Given the description of an element on the screen output the (x, y) to click on. 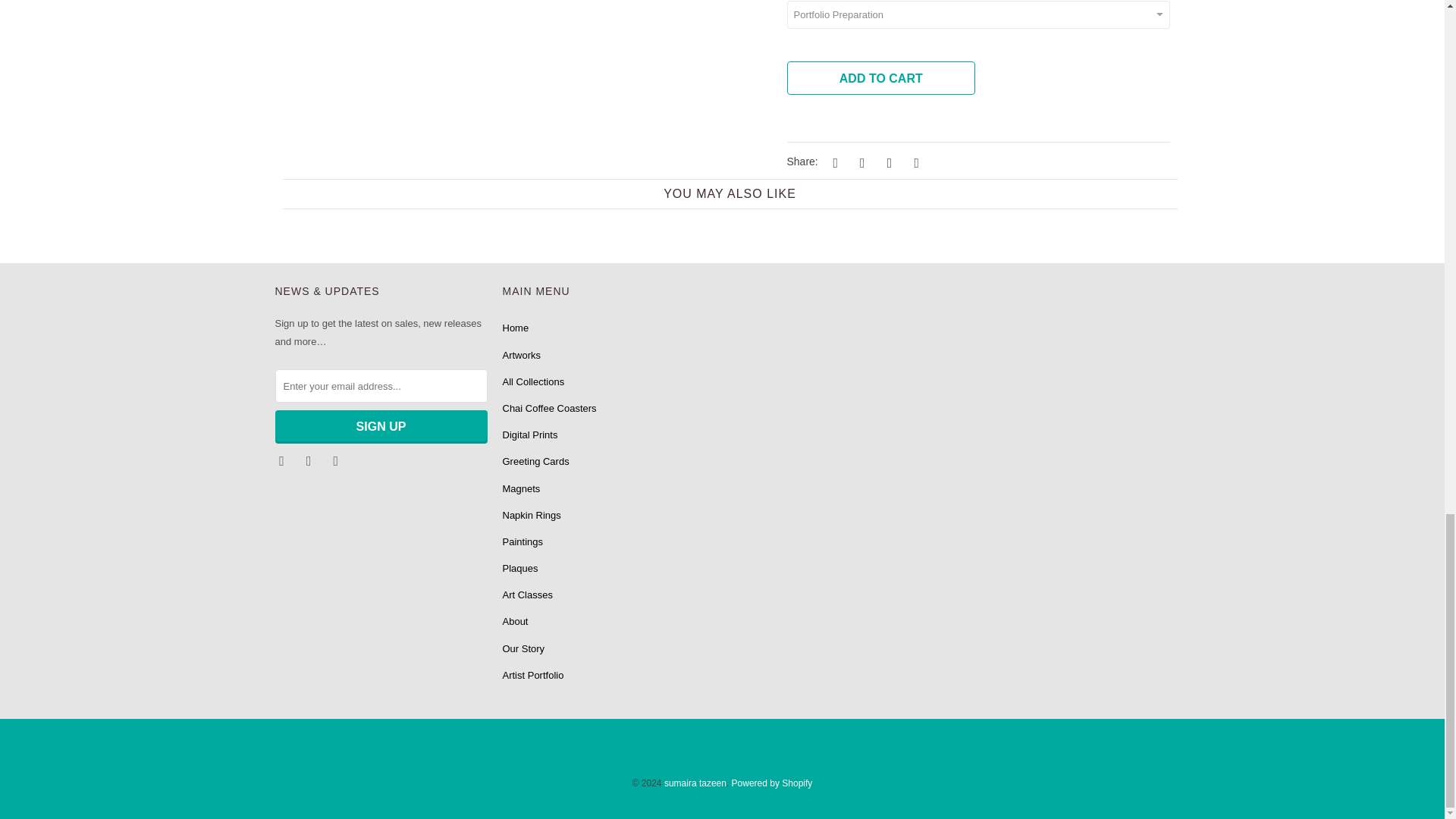
Share this on Pinterest (887, 161)
sumaira tazeen on Facebook (283, 459)
Share this on Facebook (859, 161)
Share this on Twitter (833, 161)
Email this to a friend (914, 161)
sumaira tazeen on Instagram (309, 459)
Sign Up (380, 426)
